Given the description of an element on the screen output the (x, y) to click on. 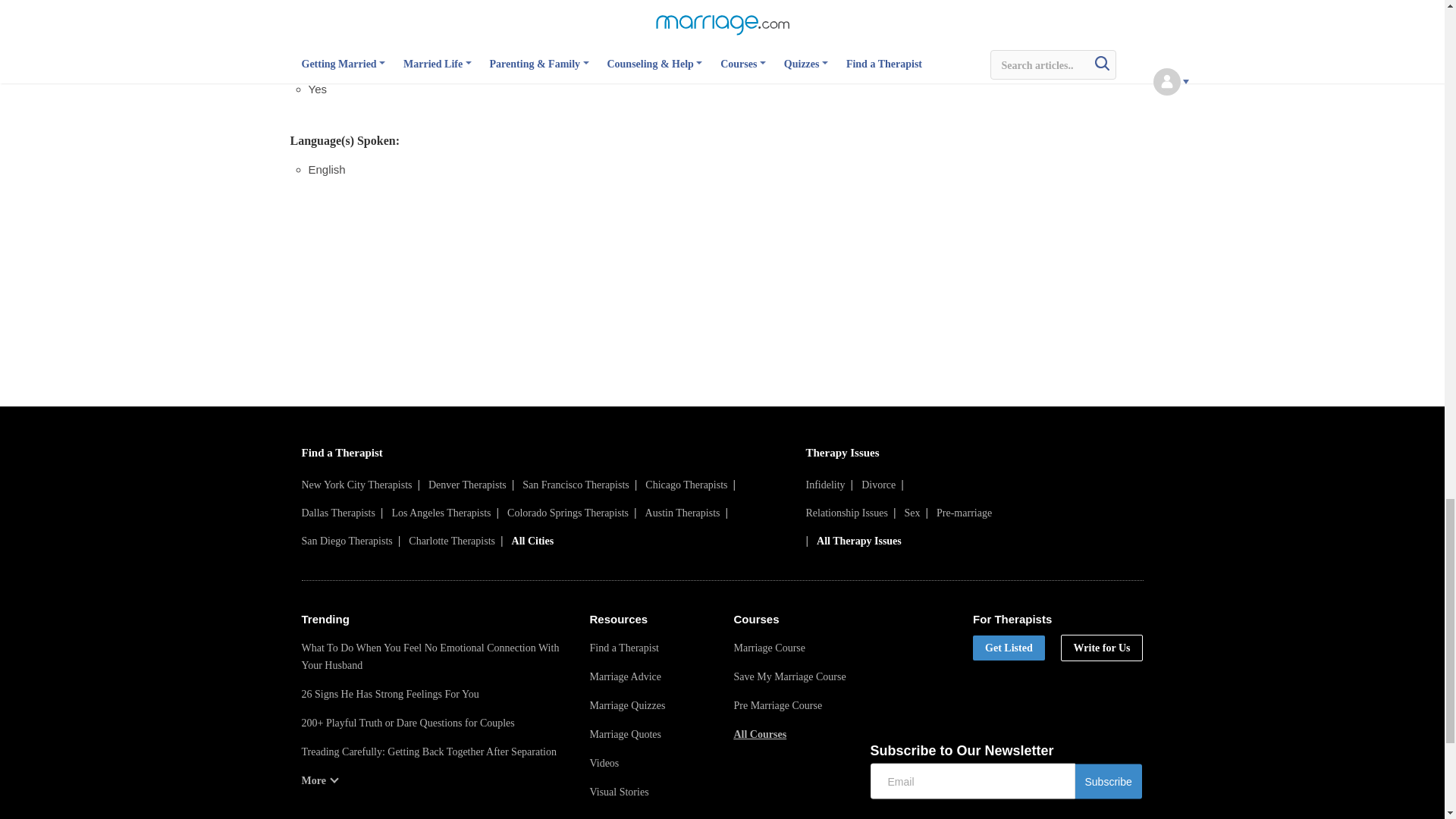
San Francisco Therapists (575, 484)
Denver Therapists (467, 484)
New York City Therapists (356, 484)
Find a Therapist (341, 452)
Subscribe (1108, 781)
